Given the description of an element on the screen output the (x, y) to click on. 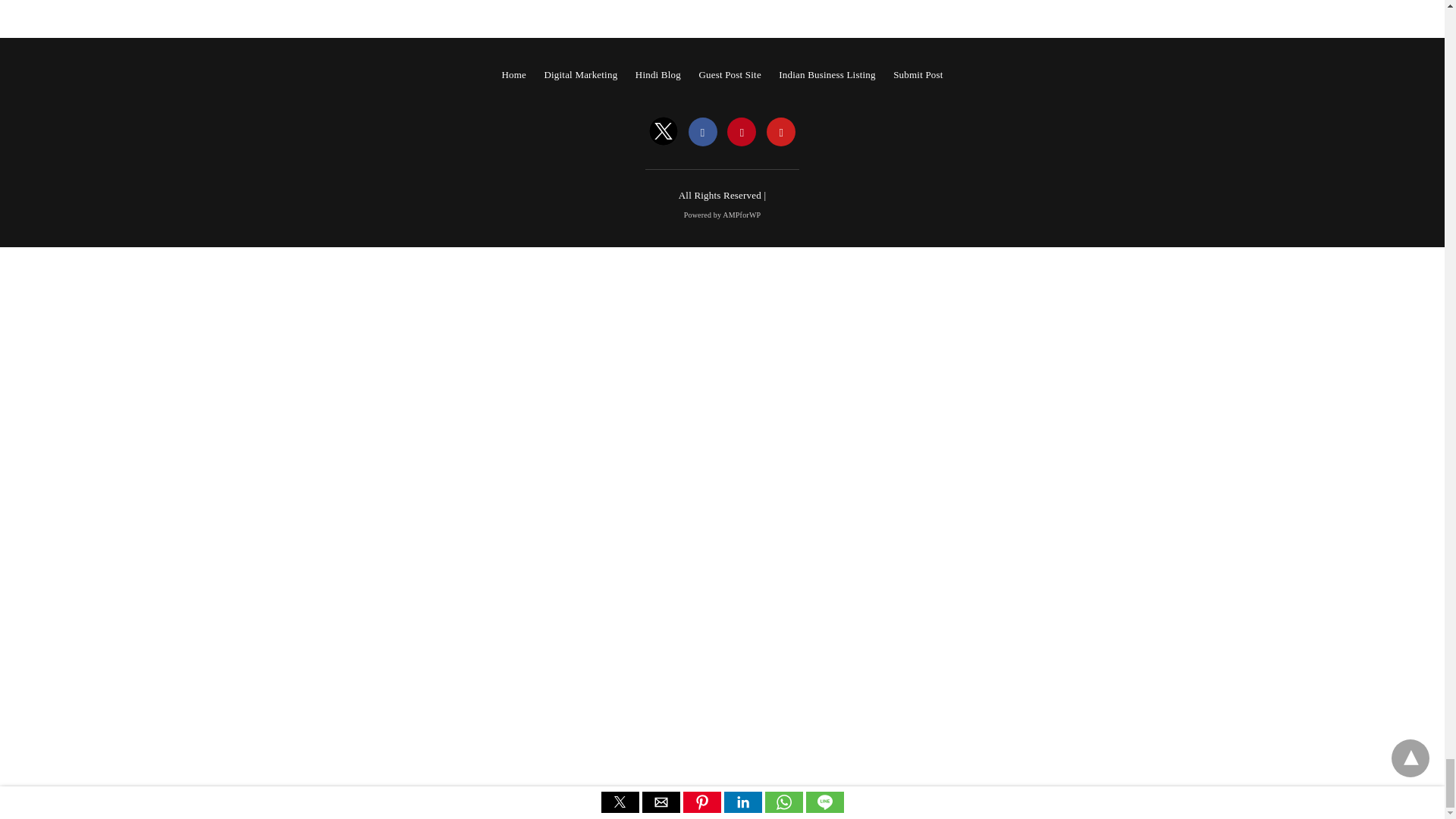
Digital Marketing (580, 74)
Hindi Blog (657, 74)
Home (512, 74)
Guest Post Site (729, 74)
Indian Business Listing (826, 74)
